Given the description of an element on the screen output the (x, y) to click on. 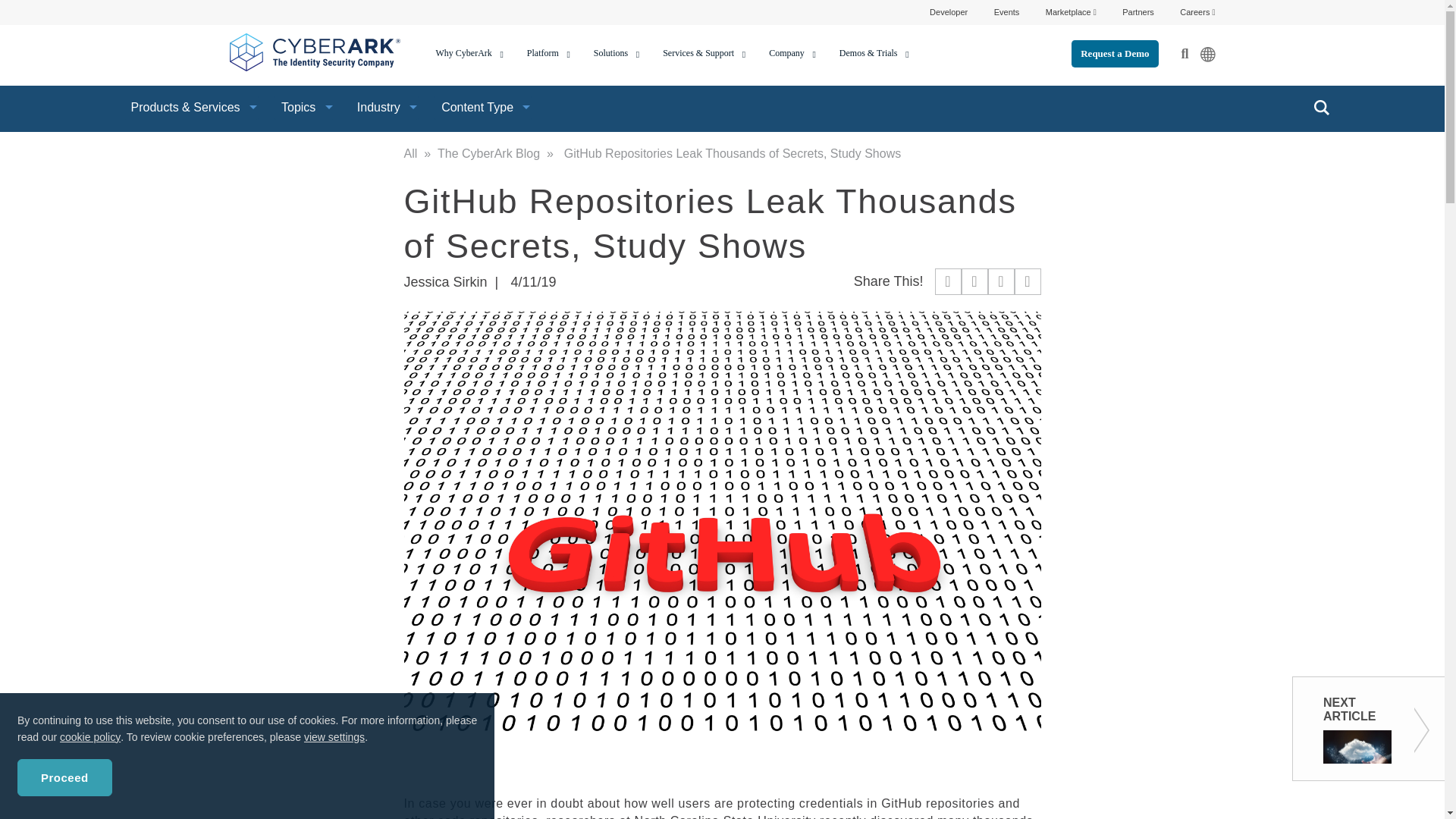
Events (1007, 11)
Marketplace (1070, 11)
Partners (1138, 11)
Careers (1196, 11)
Developer (949, 11)
